Given the description of an element on the screen output the (x, y) to click on. 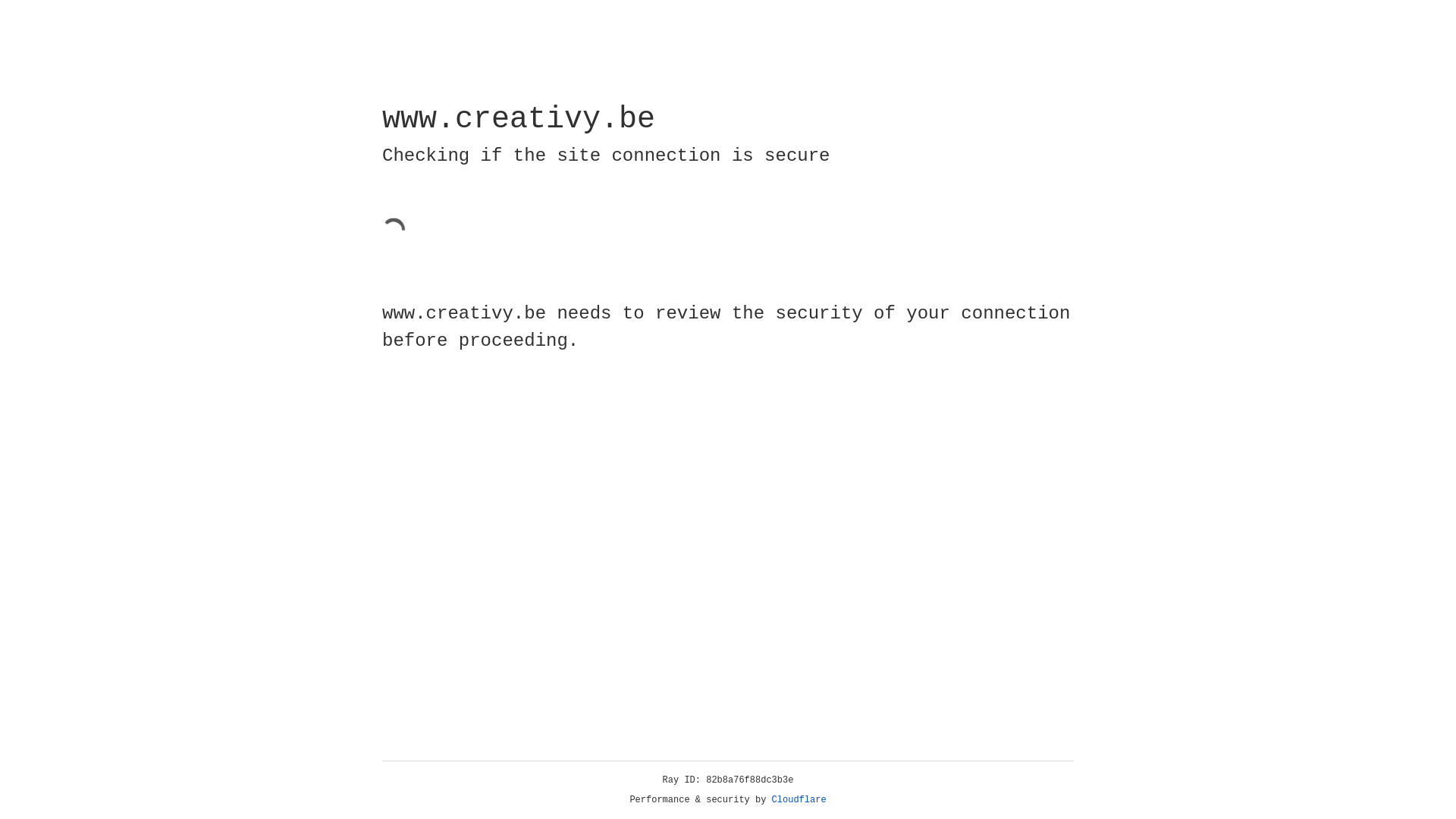
Cloudflare Element type: text (798, 799)
